Given the description of an element on the screen output the (x, y) to click on. 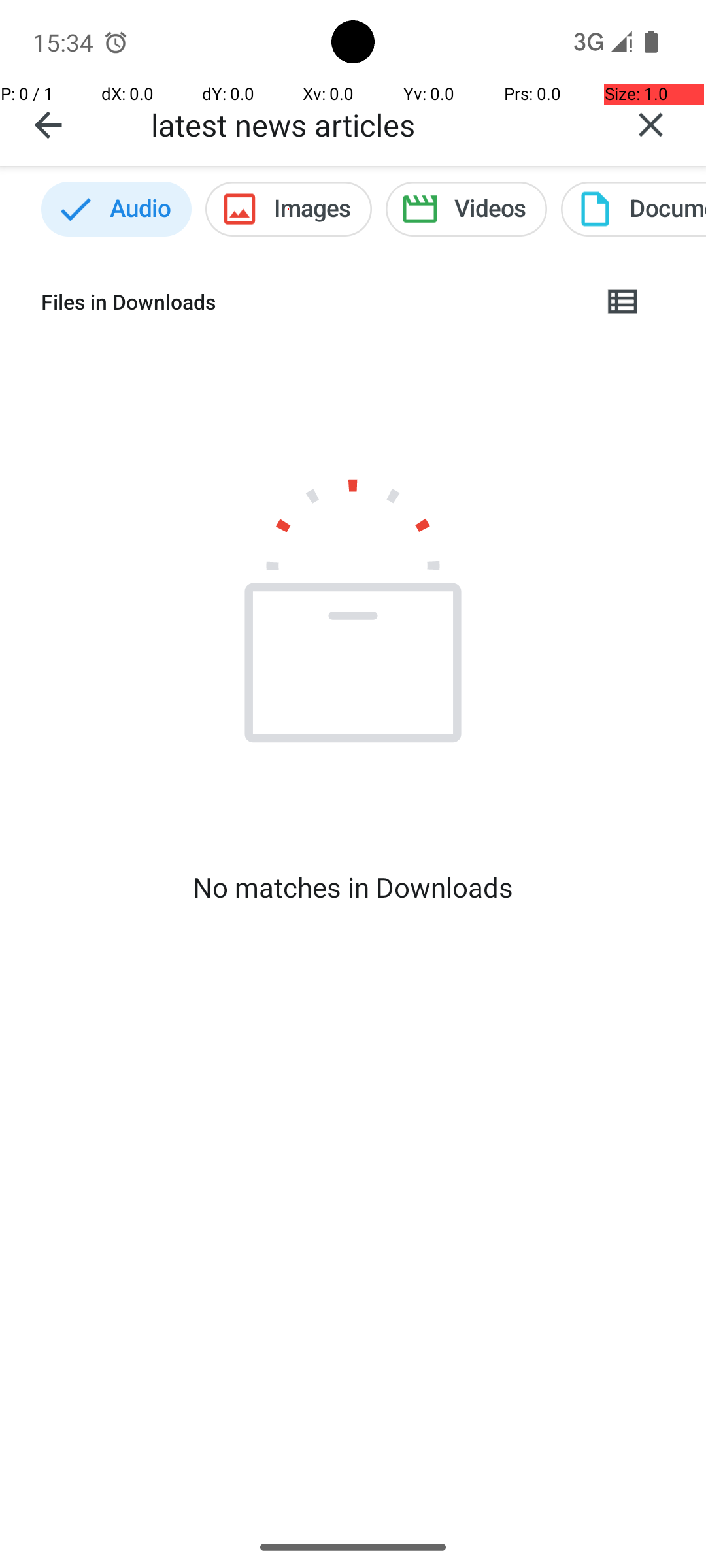
latest news articles Element type: android.widget.AutoCompleteTextView (373, 124)
